Given the description of an element on the screen output the (x, y) to click on. 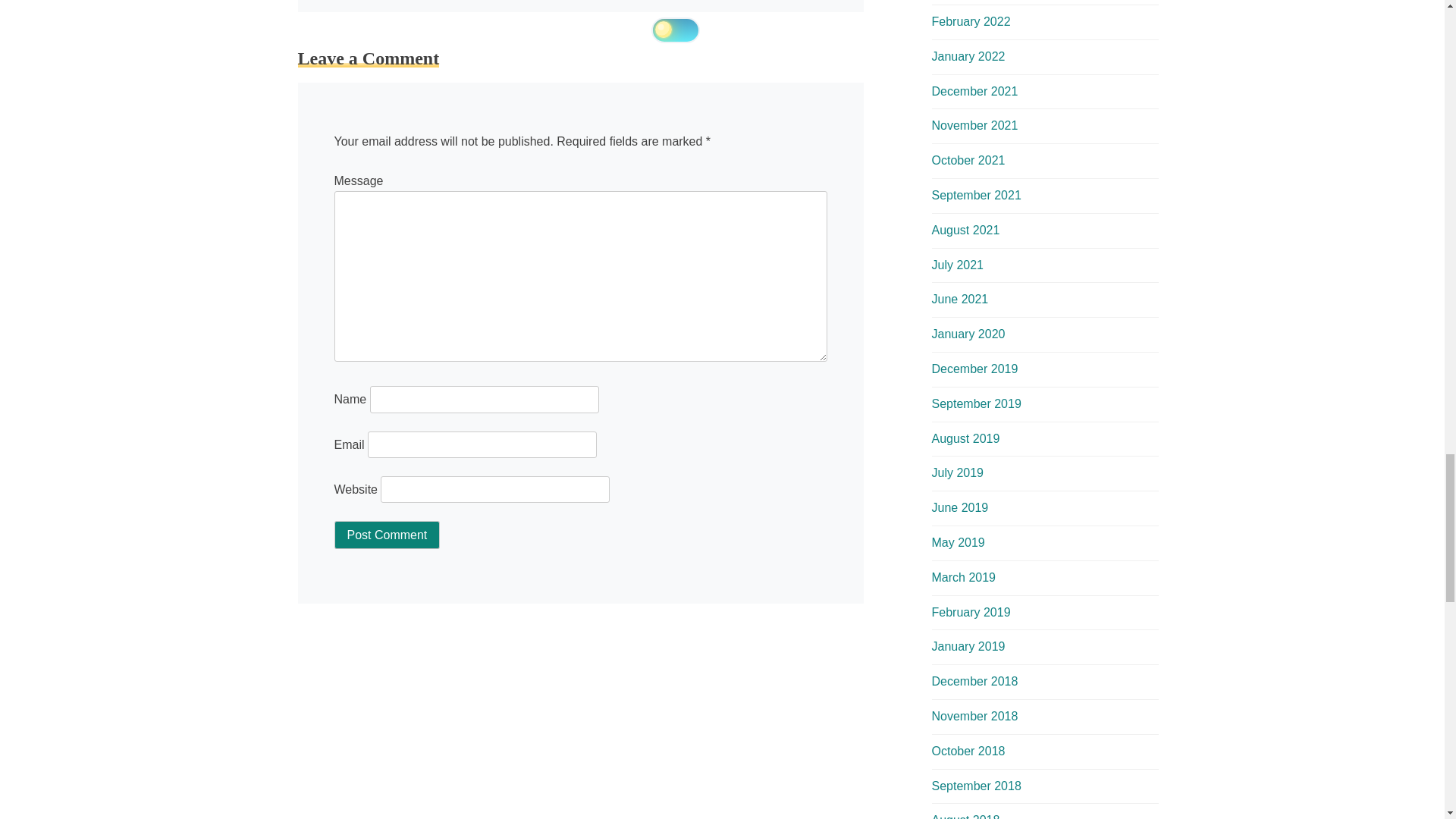
Post Comment (386, 534)
Post Comment (386, 534)
